Given the description of an element on the screen output the (x, y) to click on. 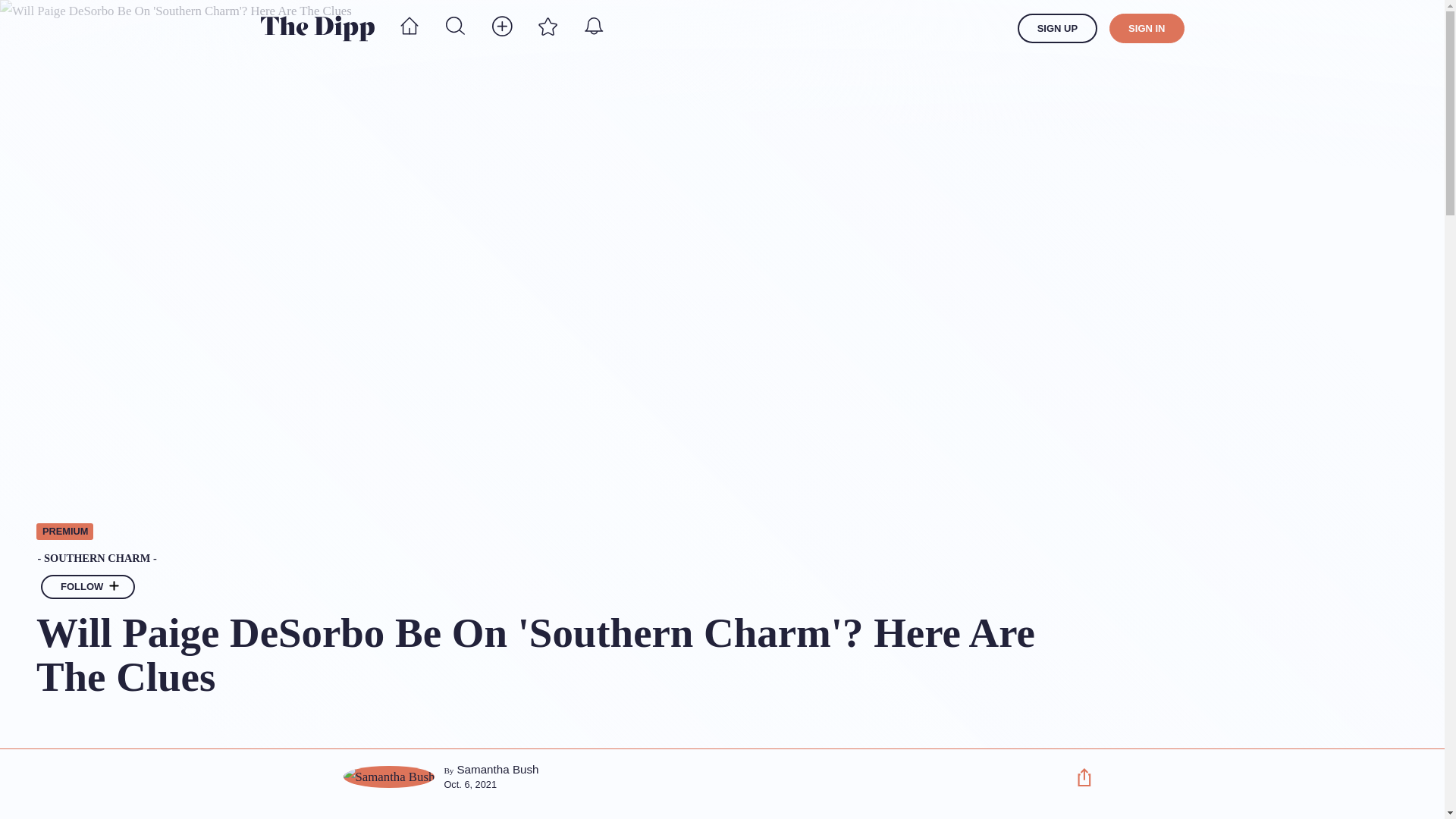
Follow (114, 587)
FOLLOW (87, 586)
Dipp (317, 28)
SIGN IN (1146, 28)
SIGN UP (1057, 28)
Samantha Bush (497, 768)
- SOUTHERN CHARM - (542, 559)
